Given the description of an element on the screen output the (x, y) to click on. 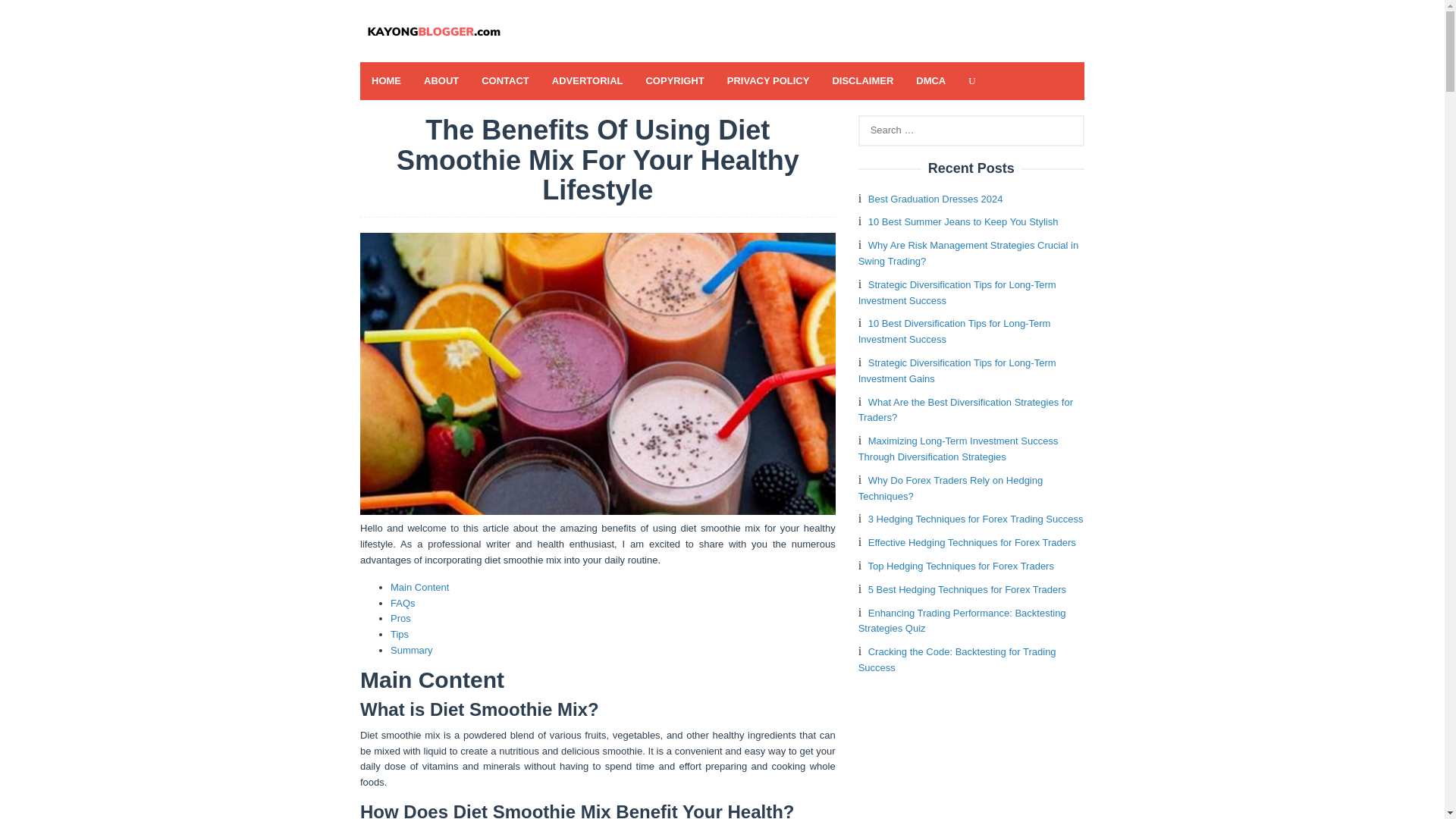
Summary (411, 650)
Kayong Blogger (435, 31)
HOME (385, 80)
DMCA (930, 80)
DISCLAIMER (862, 80)
PRIVACY POLICY (768, 80)
FAQs (402, 603)
Tips (399, 633)
Main Content (419, 586)
ABOUT (441, 80)
COPYRIGHT (673, 80)
Pros (400, 618)
Kayong Blogger (435, 30)
ADVERTORIAL (587, 80)
CONTACT (505, 80)
